Given the description of an element on the screen output the (x, y) to click on. 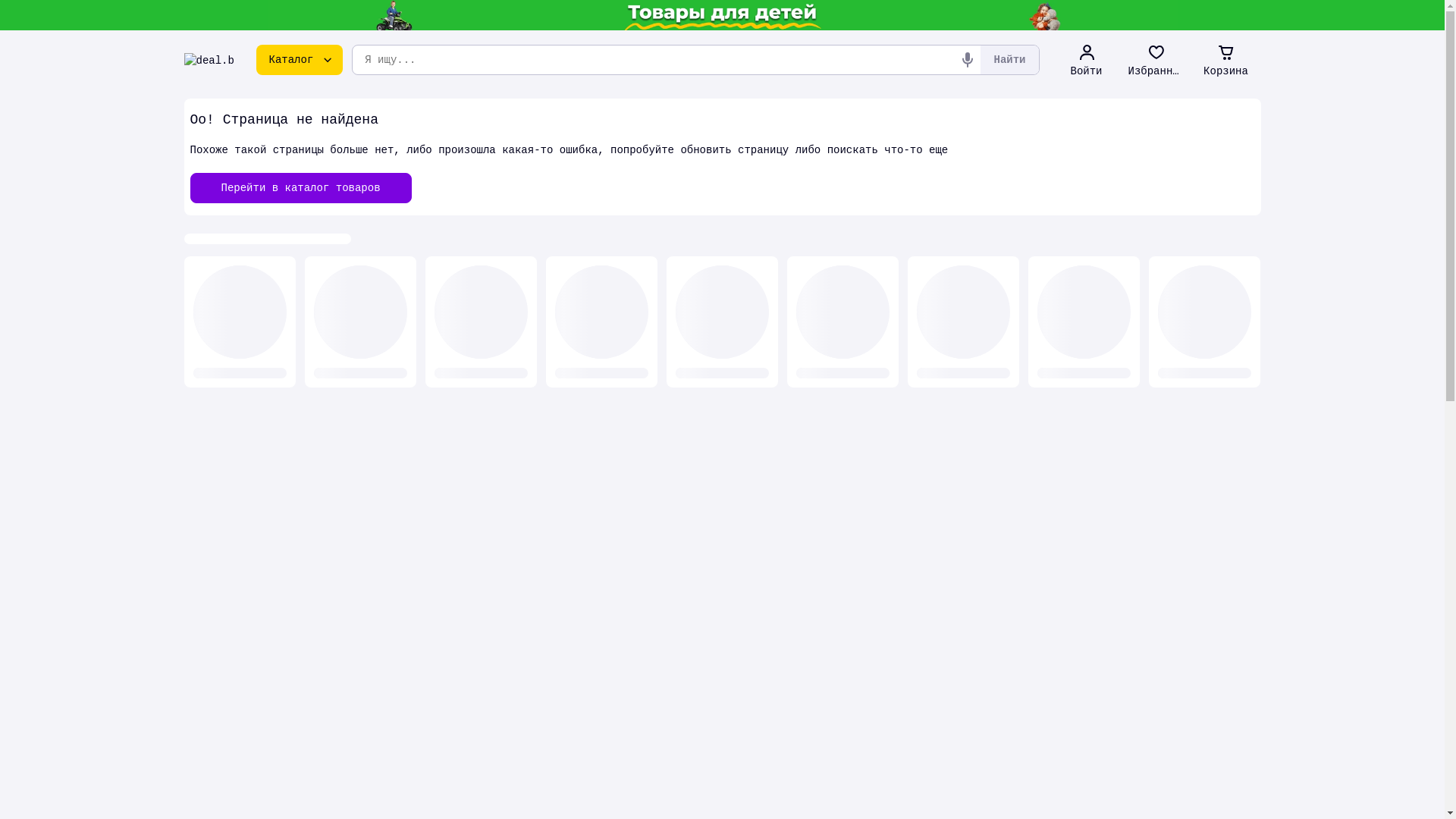
deal.by Element type: hover (208, 59)
